Given the description of an element on the screen output the (x, y) to click on. 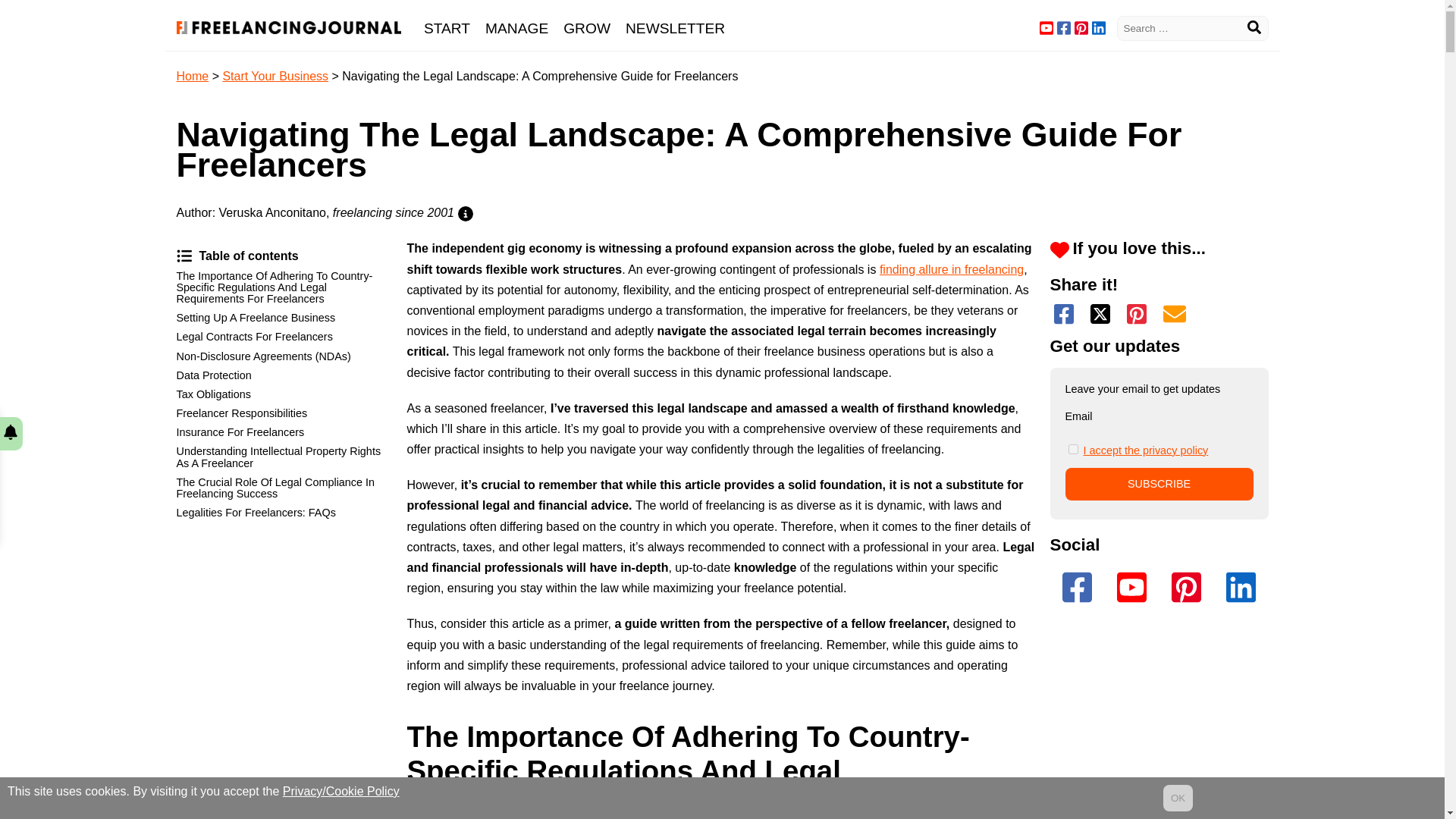
GROW (586, 28)
Start Your Business (275, 75)
SEARCH (1253, 28)
Subscribe (1158, 483)
on (1072, 449)
Youtube (1045, 28)
Home (192, 75)
Freelancer Responsibilities (285, 413)
Insurance For Freelancers (285, 432)
START (446, 28)
Setting Up A Freelance Business (285, 317)
Data Protection (285, 375)
Pinterest (1080, 28)
NEWSLETTER (675, 28)
